Given the description of an element on the screen output the (x, y) to click on. 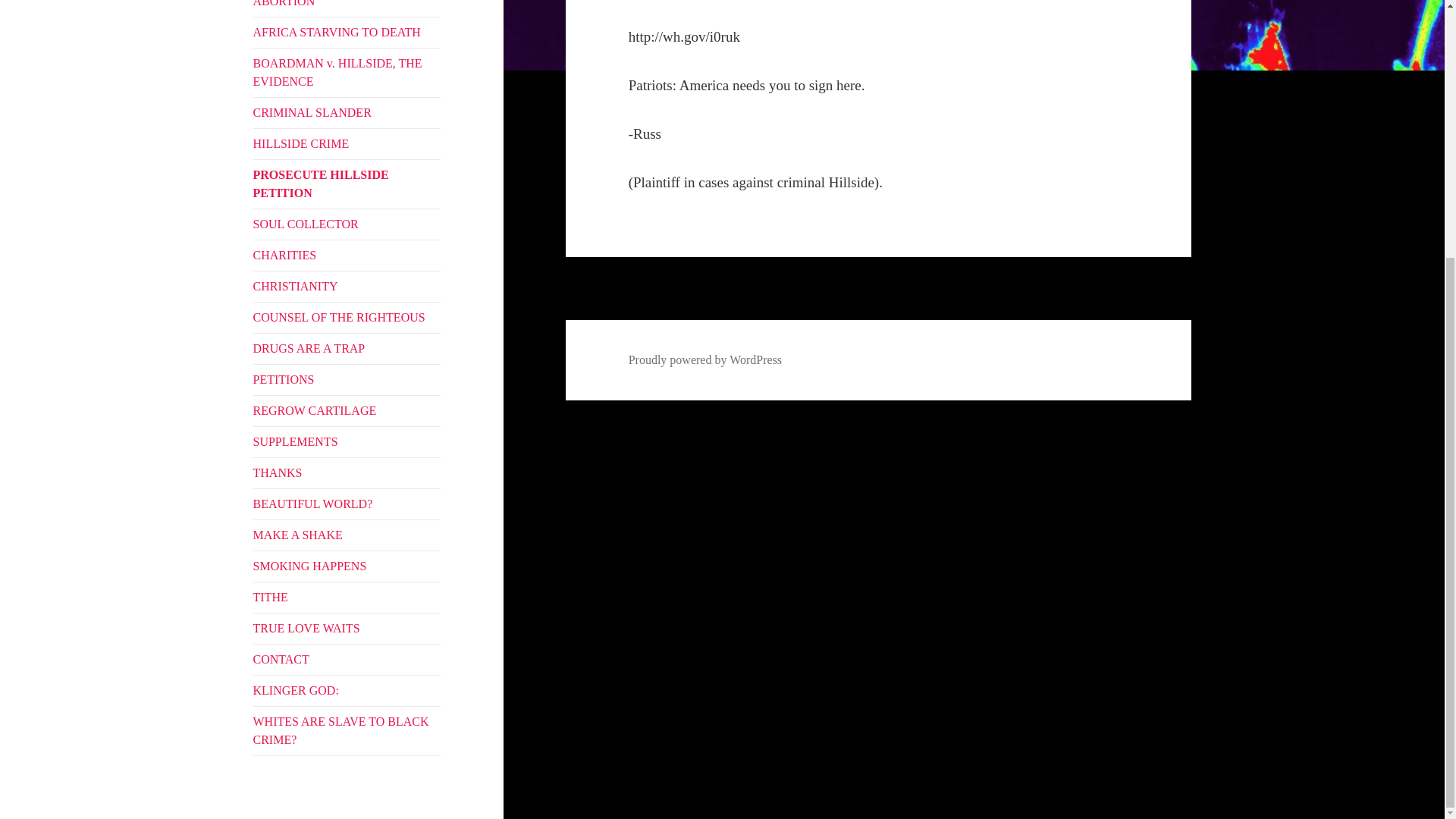
PROSECUTE HILLSIDE PETITION (347, 183)
MAKE A SHAKE (347, 535)
KLINGER GOD: (347, 690)
BOARDMAN v. HILLSIDE, THE EVIDENCE (347, 72)
REGROW CARTILAGE (347, 410)
HILLSIDE CRIME (347, 143)
ABORTION (347, 8)
THANKS (347, 472)
TITHE (347, 597)
Proudly powered by WordPress (704, 359)
CRIMINAL SLANDER (347, 112)
BEAUTIFUL WORLD? (347, 503)
SUPPLEMENTS (347, 441)
TRUE LOVE WAITS (347, 628)
WHITES ARE SLAVE TO BLACK CRIME? (347, 730)
